Given the description of an element on the screen output the (x, y) to click on. 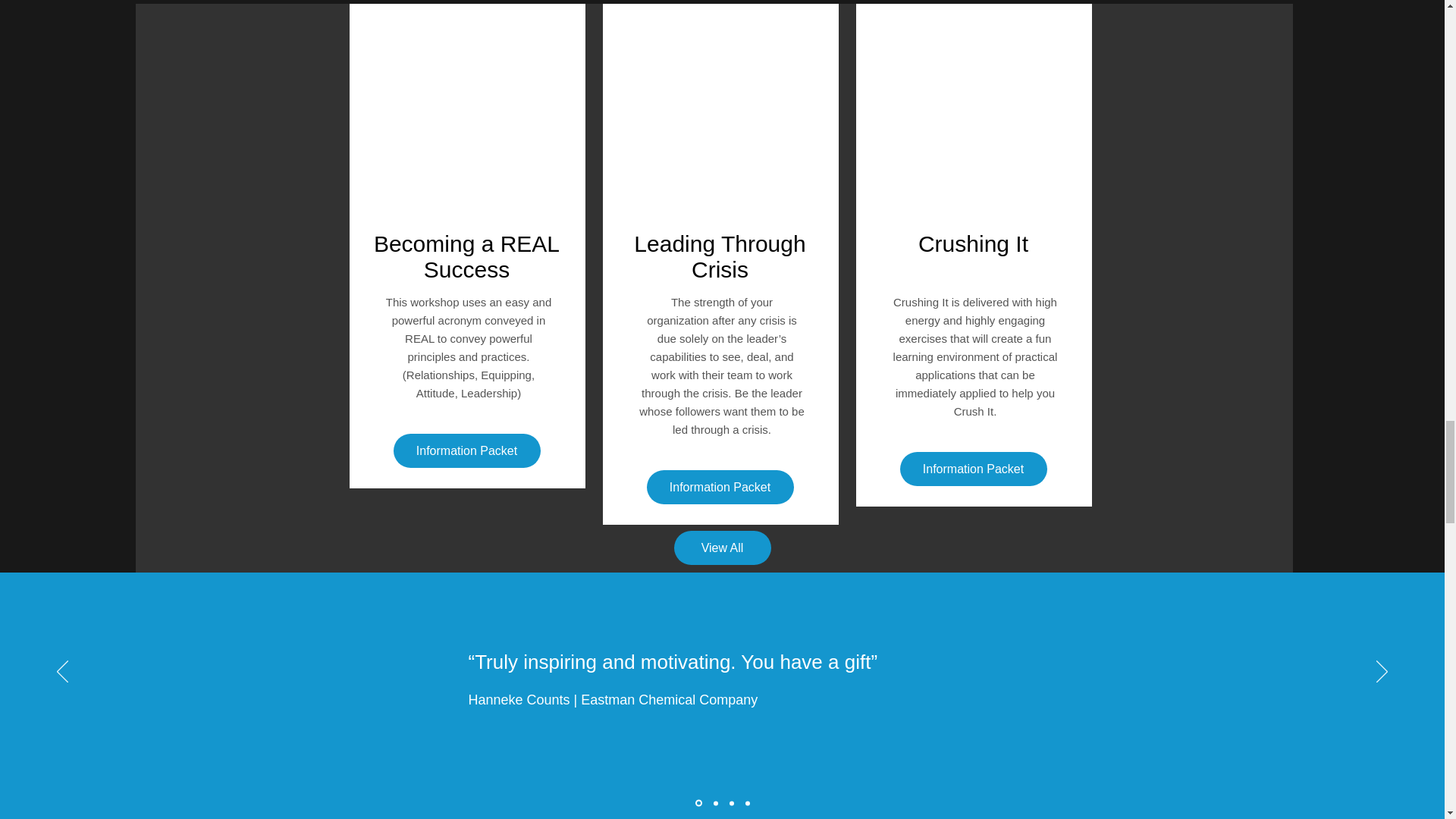
Information Packet (719, 487)
Information Packet (466, 450)
Information Packet (972, 469)
View All (721, 547)
